Given the description of an element on the screen output the (x, y) to click on. 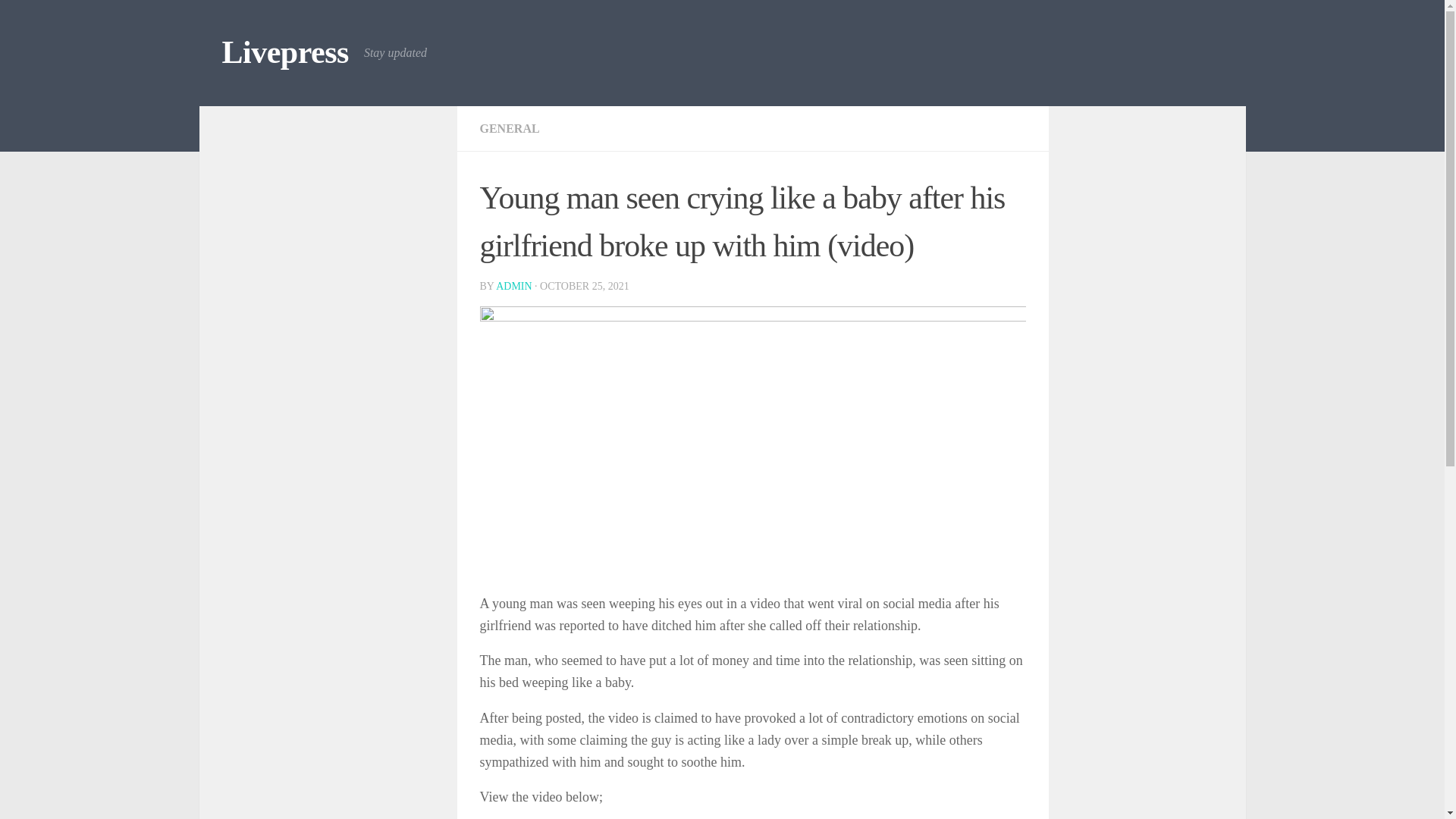
ADMIN (513, 285)
Posts by admin (513, 285)
GENERAL (508, 128)
Skip to content (59, 20)
Livepress (284, 53)
